Given the description of an element on the screen output the (x, y) to click on. 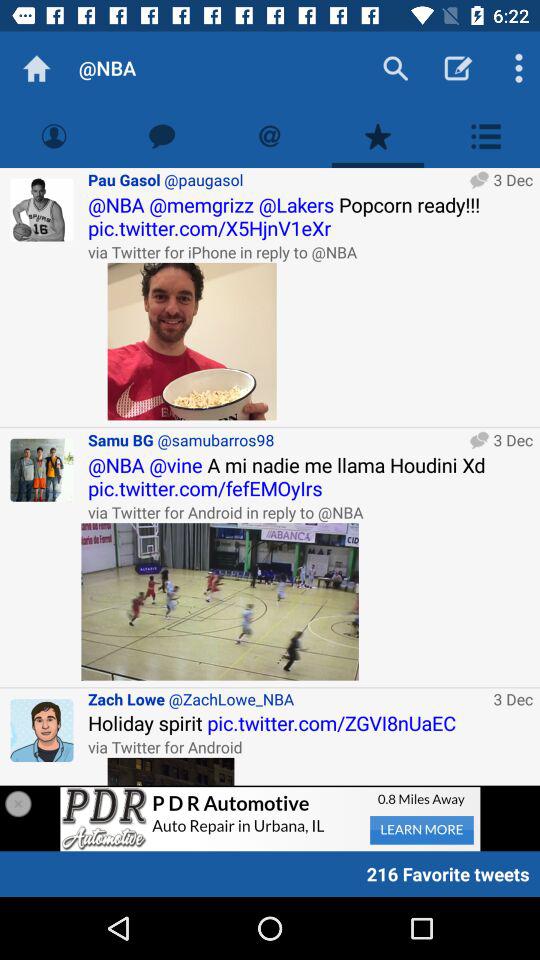
open link (170, 771)
